Given the description of an element on the screen output the (x, y) to click on. 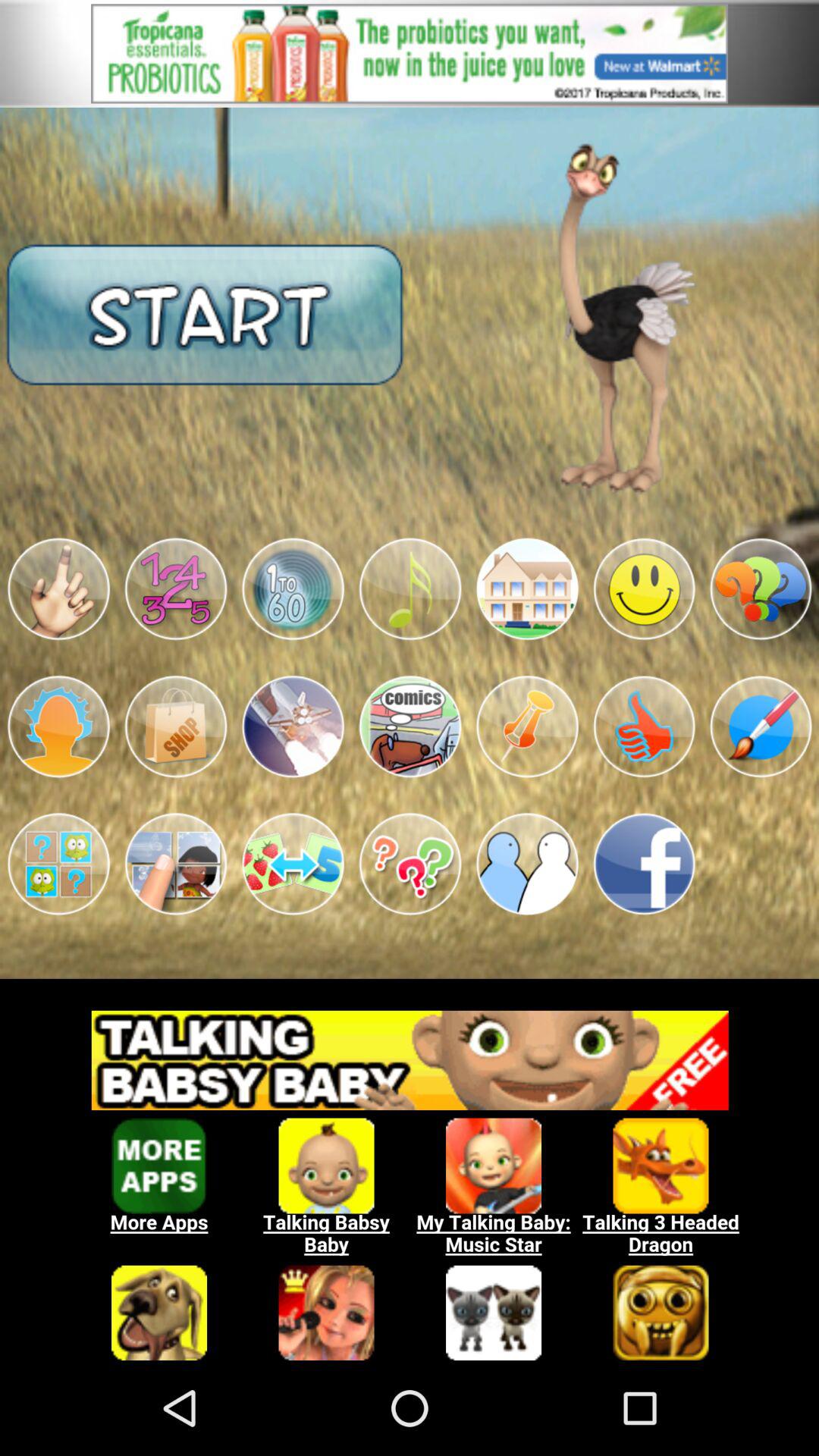
app (526, 863)
